Given the description of an element on the screen output the (x, y) to click on. 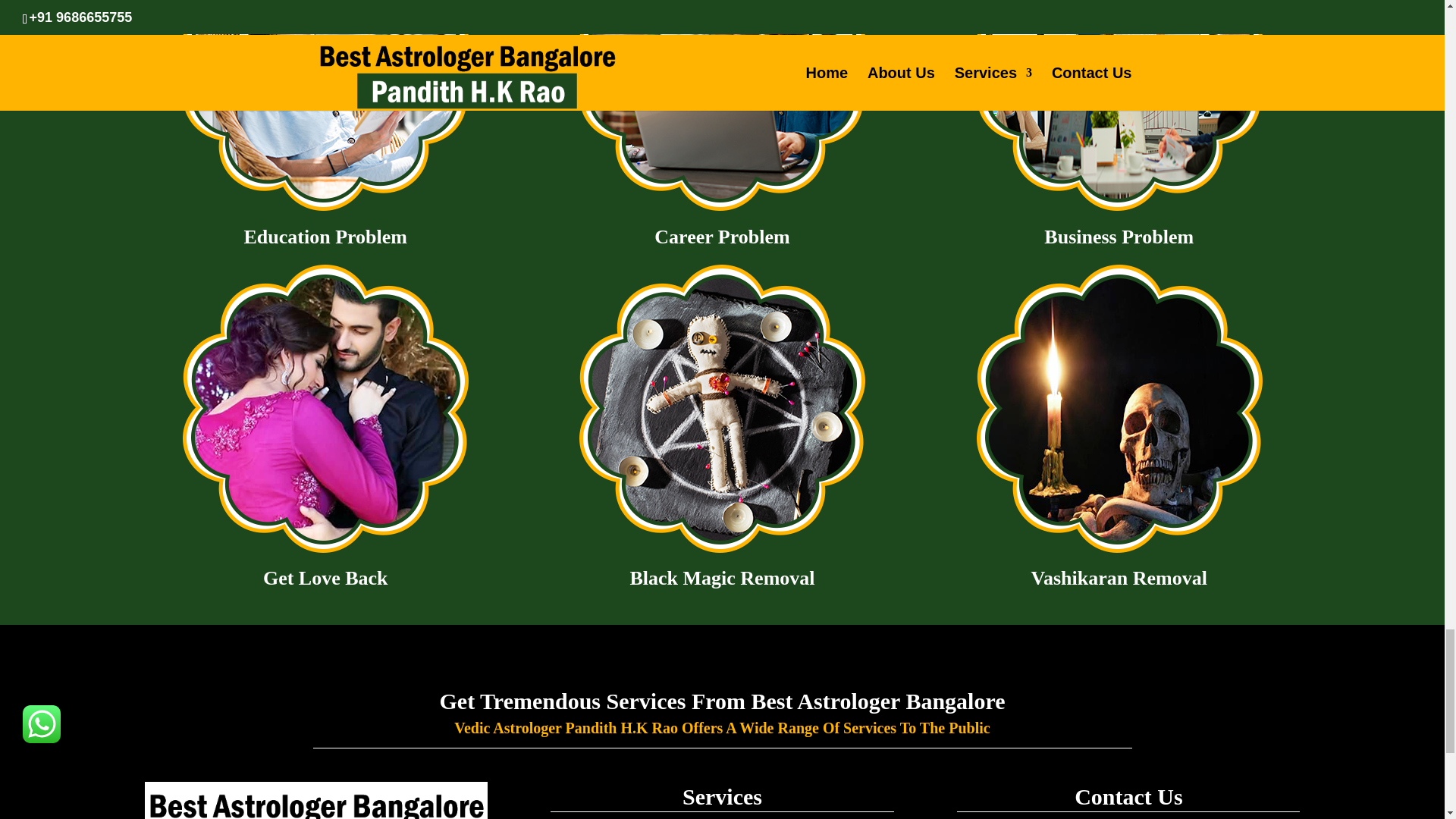
Get Love Back (325, 408)
Black Magic Removal (721, 408)
Education Problem (325, 109)
Business Problem (1119, 109)
Career Problem (721, 109)
Logo (315, 800)
Vashikaran Removal (1119, 408)
